Given the description of an element on the screen output the (x, y) to click on. 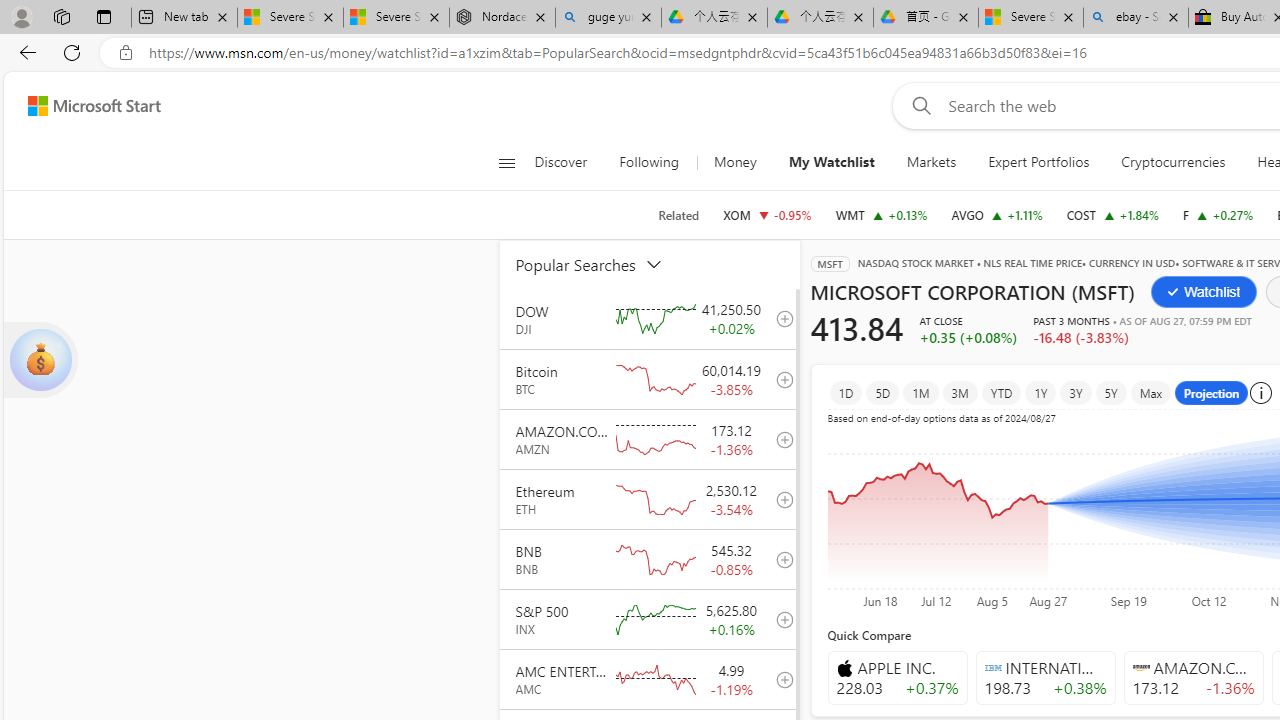
F FORD MOTOR COMPANY increase 11.14 +0.03 +0.27% (1218, 214)
Expert Portfolios (1038, 162)
Skip to footer (82, 105)
3M (959, 392)
Discover (560, 162)
Watchlist (1204, 291)
Cryptocurrencies (1172, 162)
YTD (1000, 392)
Open navigation menu (506, 162)
1Y (1041, 392)
guge yunpan - Search (607, 17)
Class: autoSuggestIcon-DS-EntryPoint1-2 (1140, 667)
WMT WALMART INC. increase 76.13 +0.10 +0.13% (881, 214)
